Given the description of an element on the screen output the (x, y) to click on. 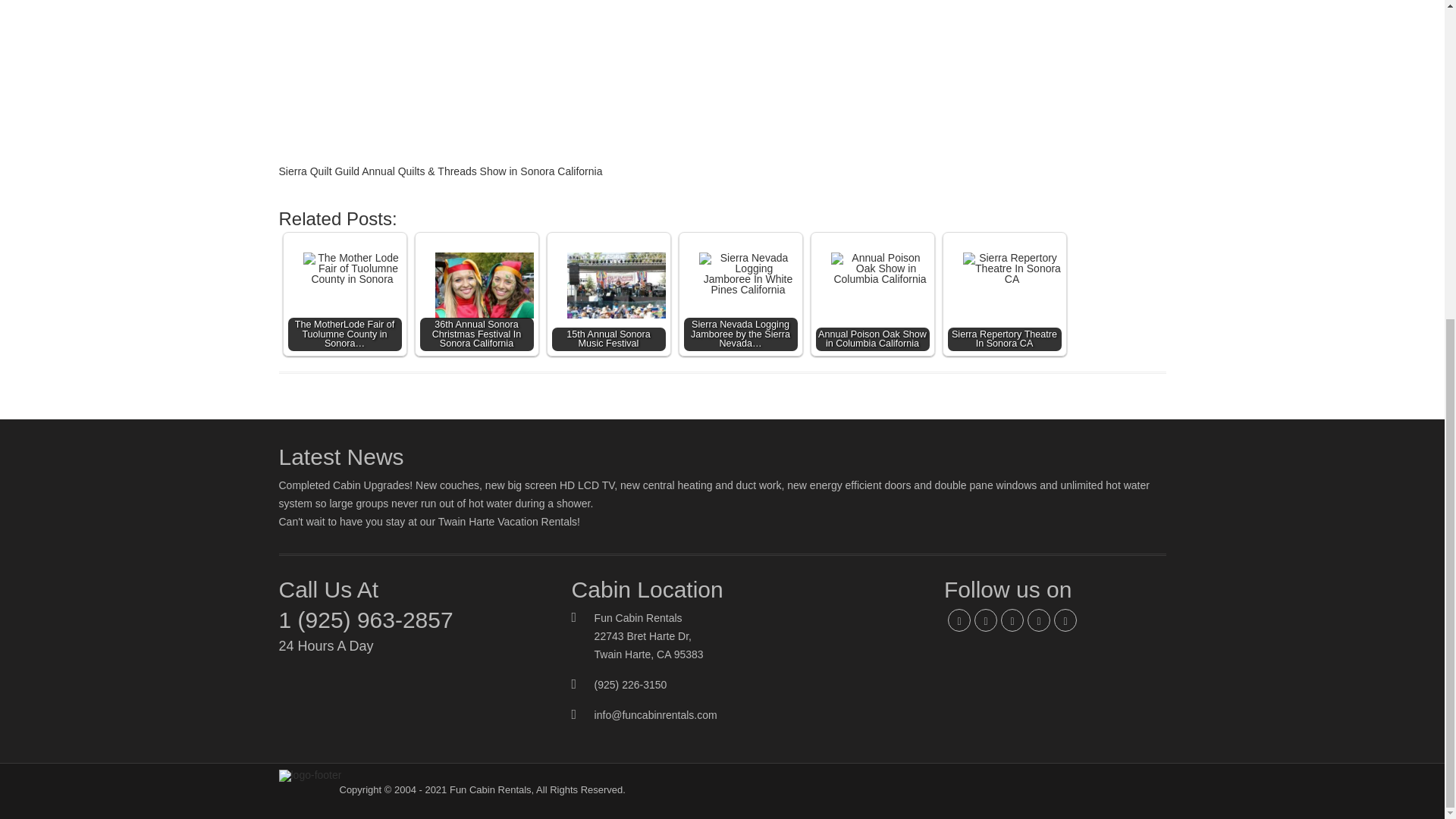
36th Annual Sonora Christmas Festival In Sonora California (477, 285)
Twain Harte Vacation Rentals (507, 521)
15th Annual Sonora Music Festival (608, 294)
Annual Poison Oak Show in Columbia California (872, 285)
36th Annual Sonora Christmas Festival In Sonora California (477, 294)
Sierra Repertory Theatre In Sonora CA (1004, 286)
15th Annual Sonora Music Festival (608, 285)
Sierra Repertory Theatre In Sonora CA (1004, 294)
